Given the description of an element on the screen output the (x, y) to click on. 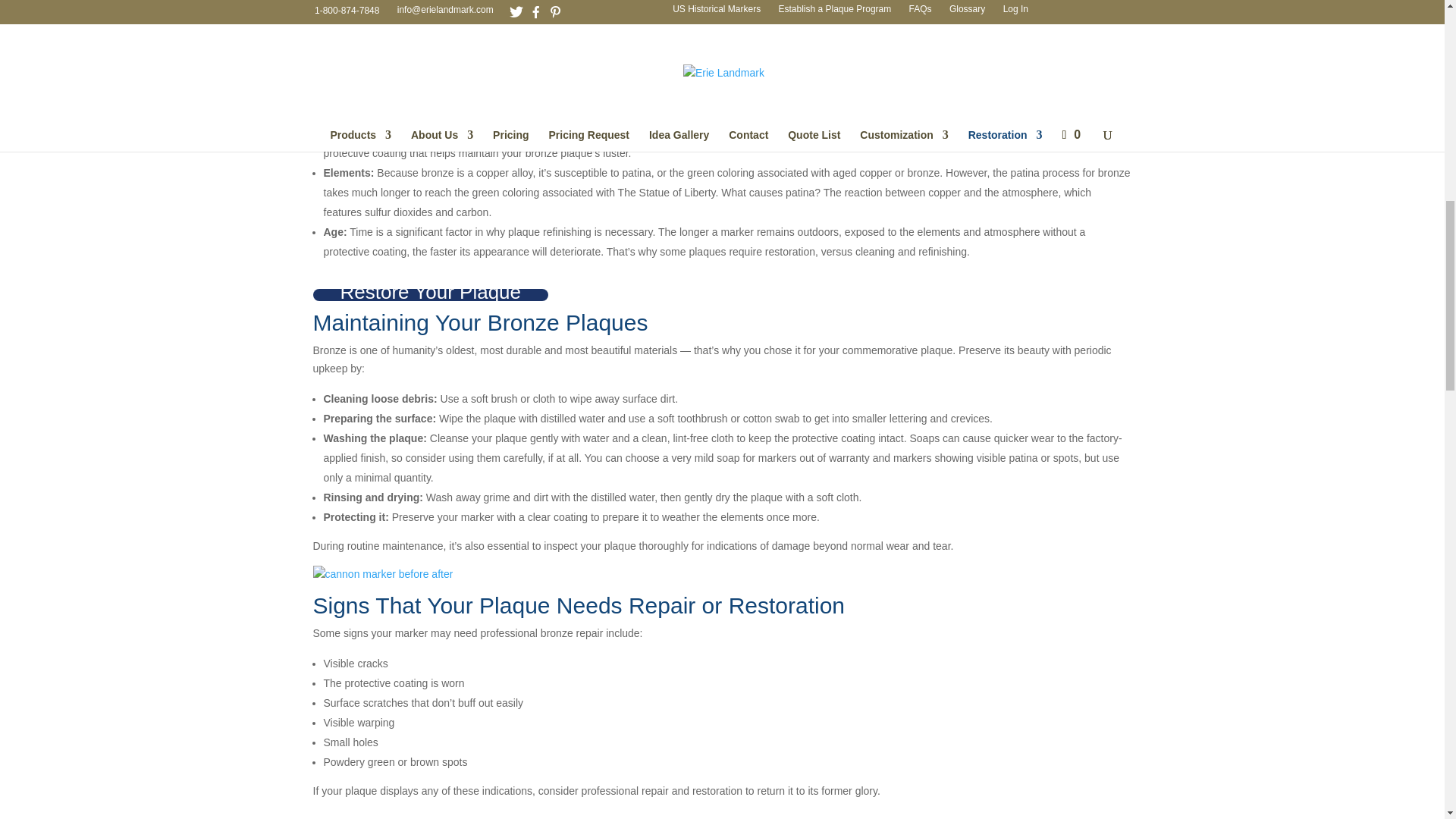
Plaque Repair and Restoration (382, 574)
Plaque Repair and Restoration (560, 815)
Plaque Repair and Restoration (964, 815)
